Given the description of an element on the screen output the (x, y) to click on. 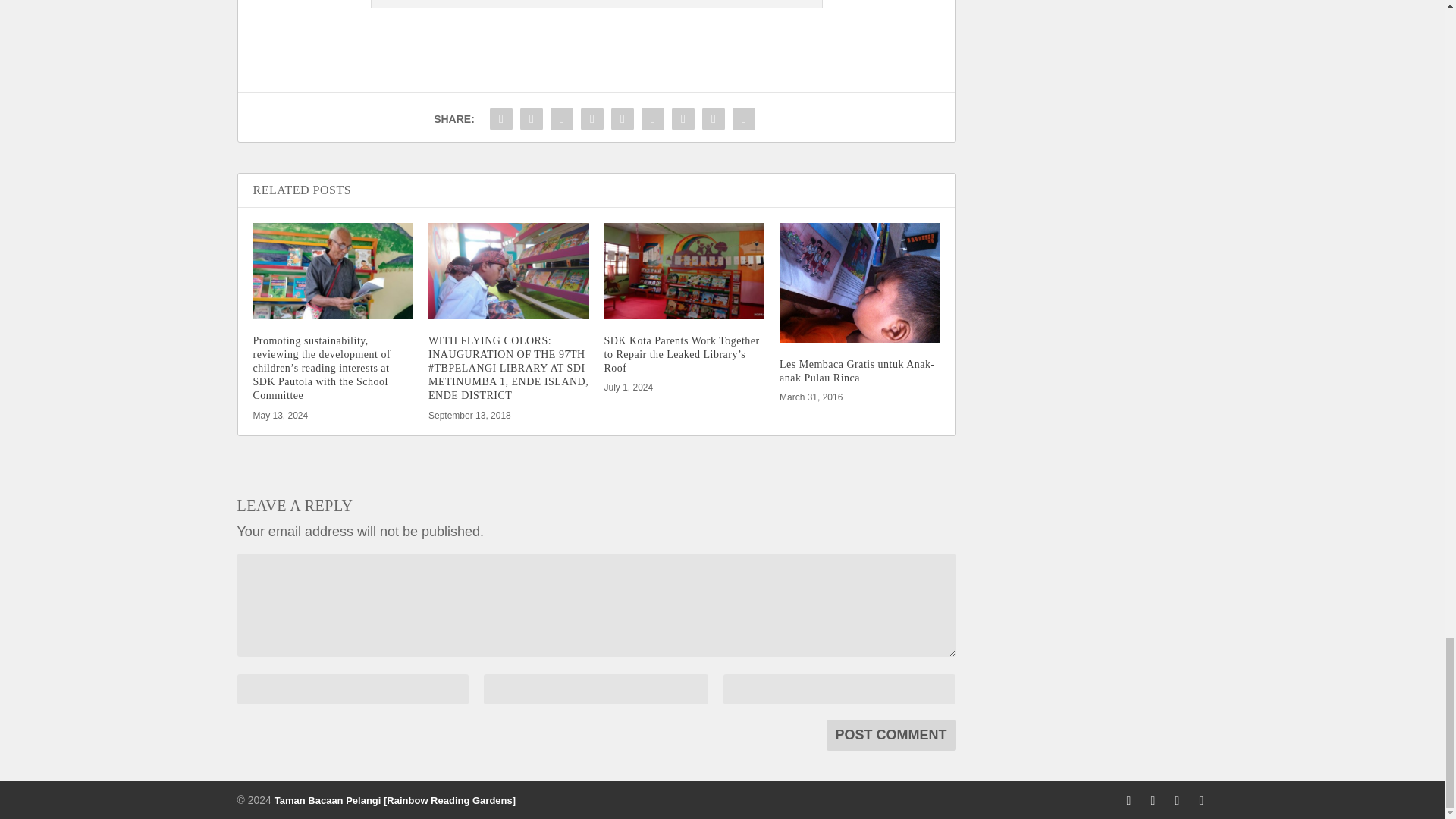
Post Comment (891, 735)
Les Membaca Gratis untuk Anak-anak Pulau Rinca (859, 282)
